Given the description of an element on the screen output the (x, y) to click on. 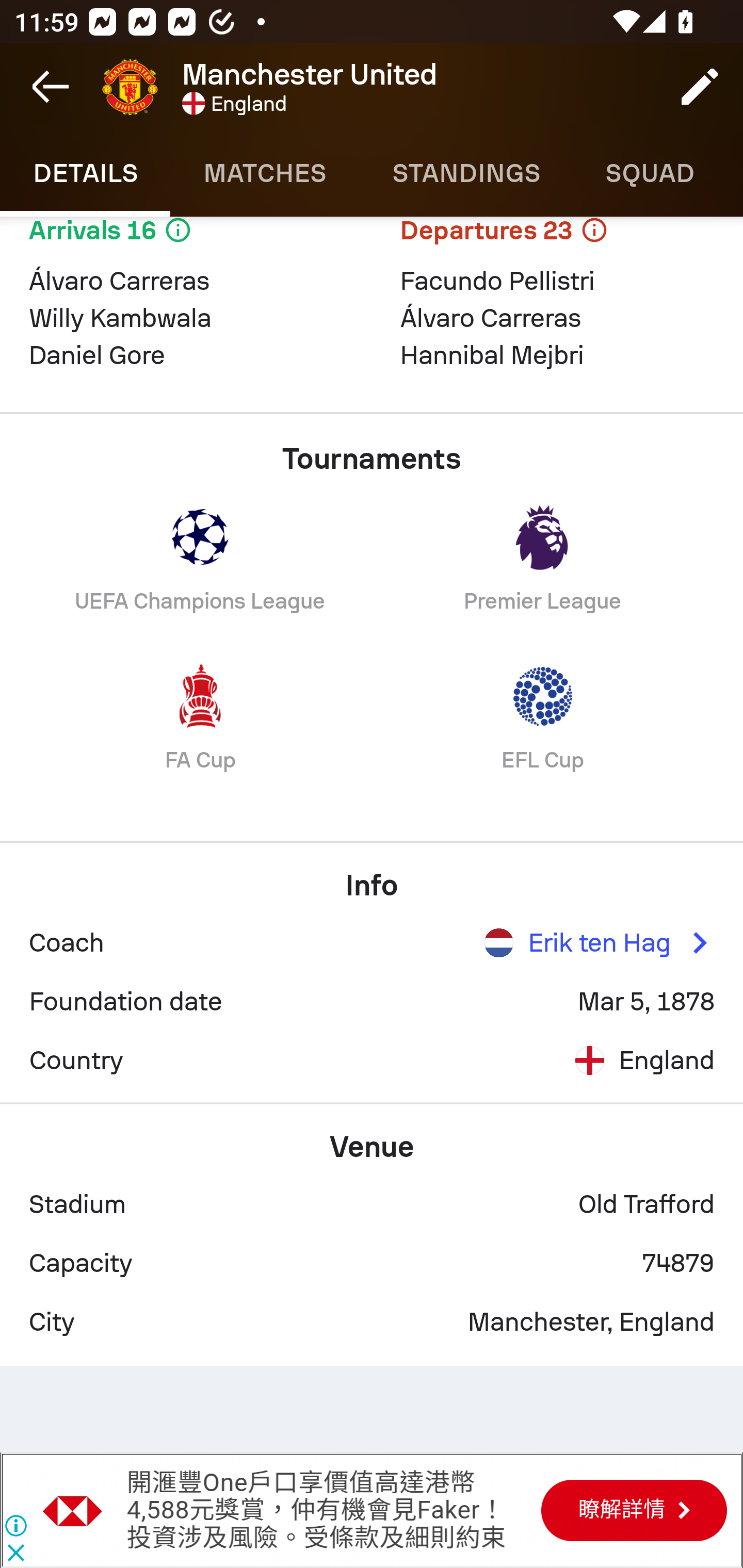
Navigate up (50, 86)
Edit (699, 86)
Matches MATCHES (264, 173)
Standings STANDINGS (465, 173)
Squad SQUAD (650, 173)
Arrivals 16 (185, 241)
Departures 23 (557, 241)
UEFA Champions League (199, 572)
Premier League (542, 572)
FA Cup (199, 732)
EFL Cup (542, 732)
Coach Erik ten Hag (371, 943)
滙豐 (73, 1510)
瞭解詳情 (634, 1509)
